Given the description of an element on the screen output the (x, y) to click on. 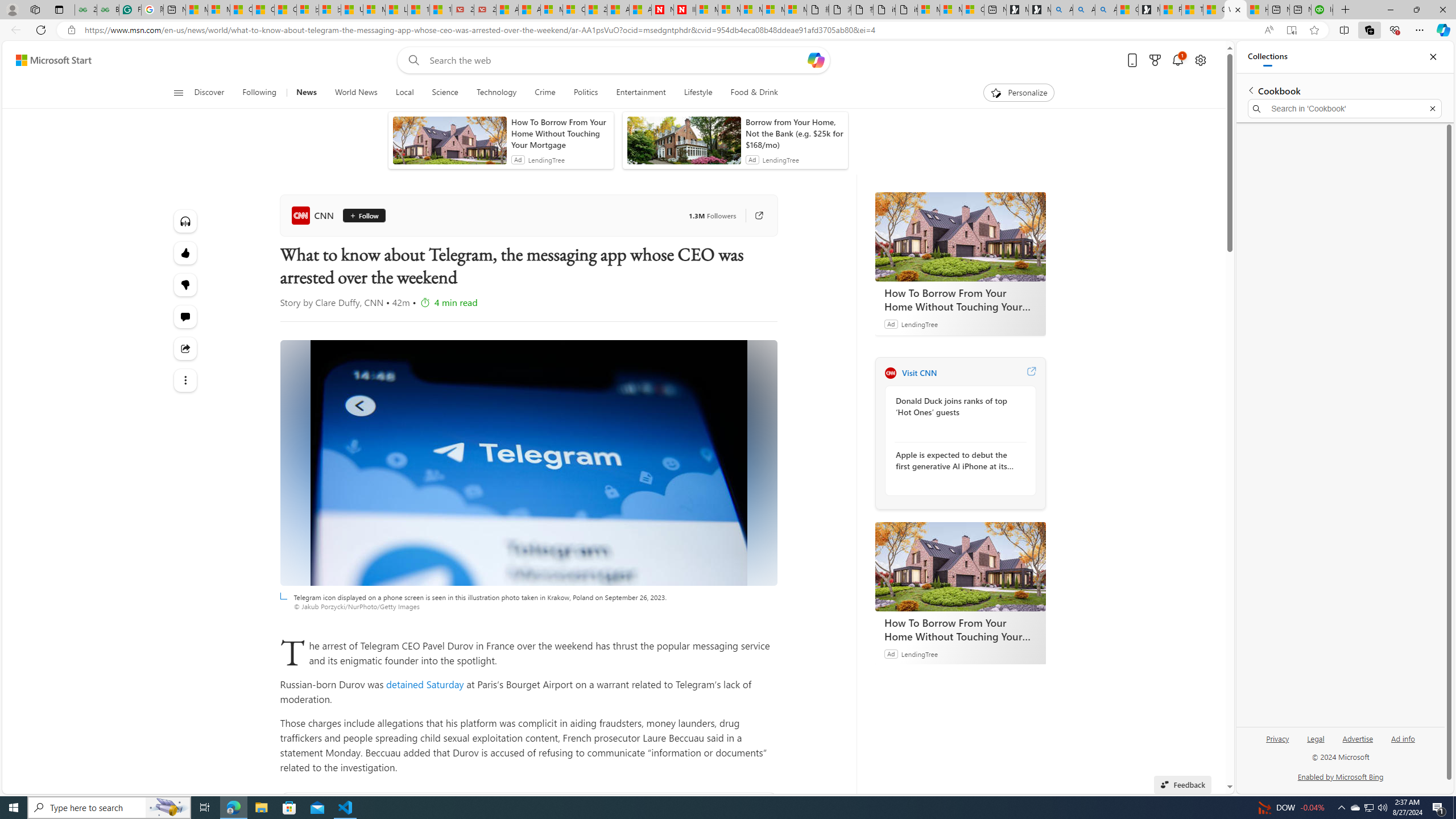
anim-content (683, 144)
Cloud Computing Services | Microsoft Azure (573, 9)
